Given the description of an element on the screen output the (x, y) to click on. 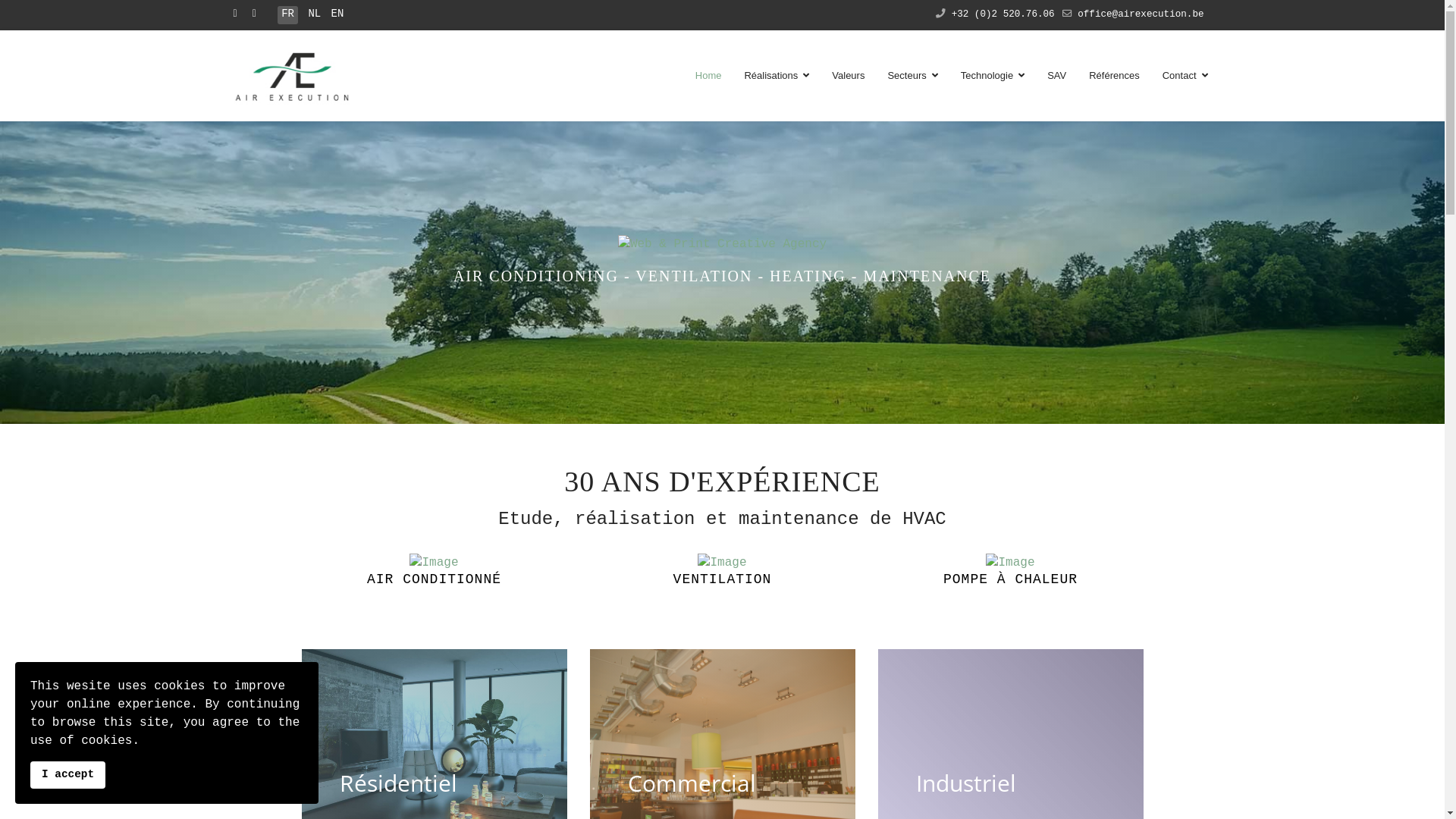
+32 (0)2 520.76.06 Element type: text (1002, 14)
EN Element type: text (337, 13)
Secteurs Element type: text (911, 75)
AIR CONDITIONING - VENTILATION - HEATING - MAINTENANCE Element type: hover (722, 244)
Industriel Element type: text (966, 782)
SAV Element type: text (1056, 75)
I accept Element type: text (67, 774)
VENTILATION Element type: text (722, 579)
Home Element type: text (708, 75)
NL Element type: text (313, 13)
office@airexecution.be Element type: text (1140, 14)
Valeurs Element type: text (847, 75)
FR Element type: text (287, 13)
Commercial Element type: text (691, 782)
Technologie Element type: text (992, 75)
Contact Element type: text (1179, 75)
